Given the description of an element on the screen output the (x, y) to click on. 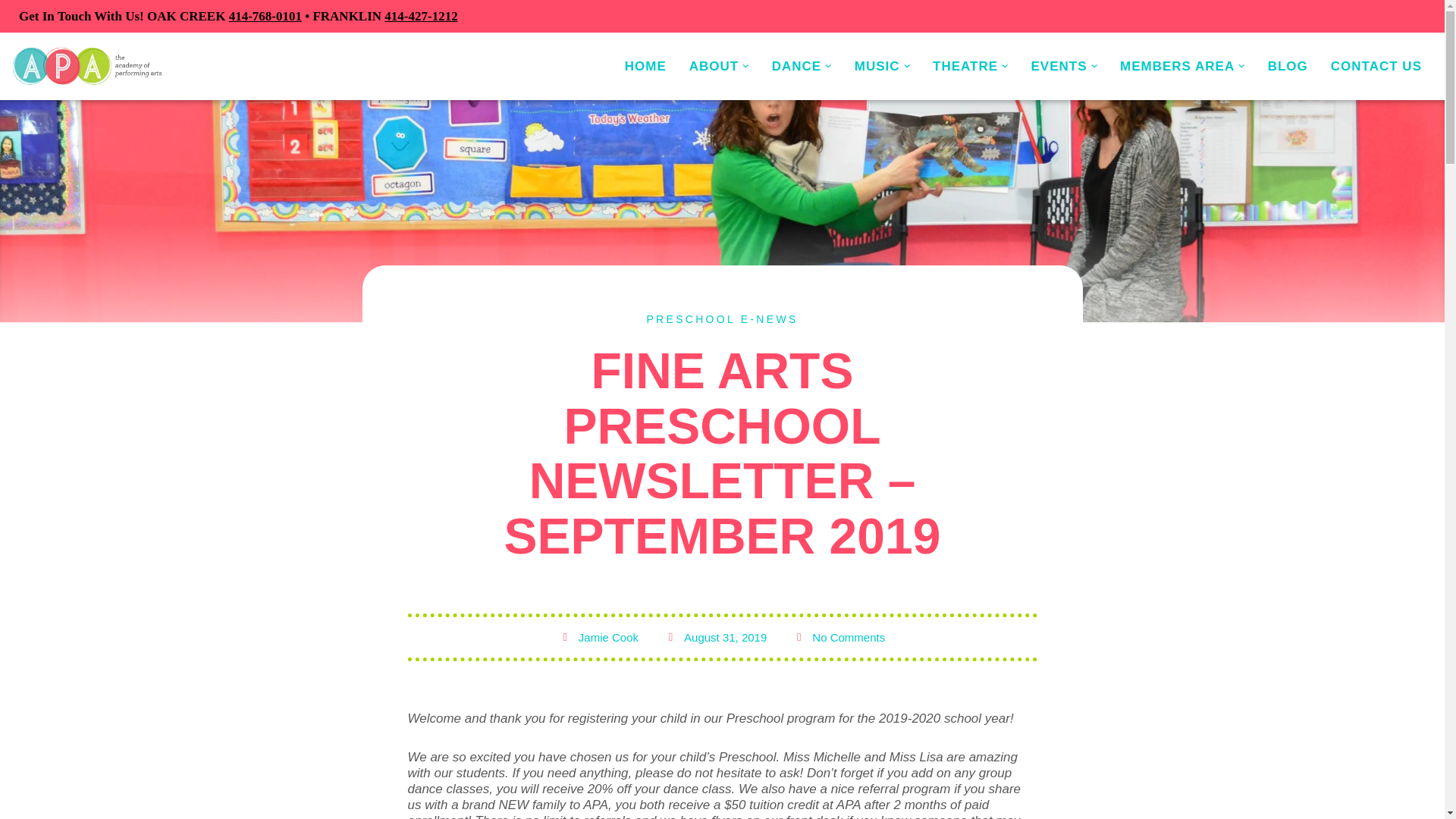
ABOUT (718, 66)
CONTACT US (1376, 66)
Skip to content (11, 31)
MEMBERS AREA (1181, 66)
414-427-1212 (420, 16)
BLOG (1287, 66)
414-768-0101 (264, 16)
HOME (645, 66)
MUSIC (882, 66)
THEATRE (971, 66)
